Given the description of an element on the screen output the (x, y) to click on. 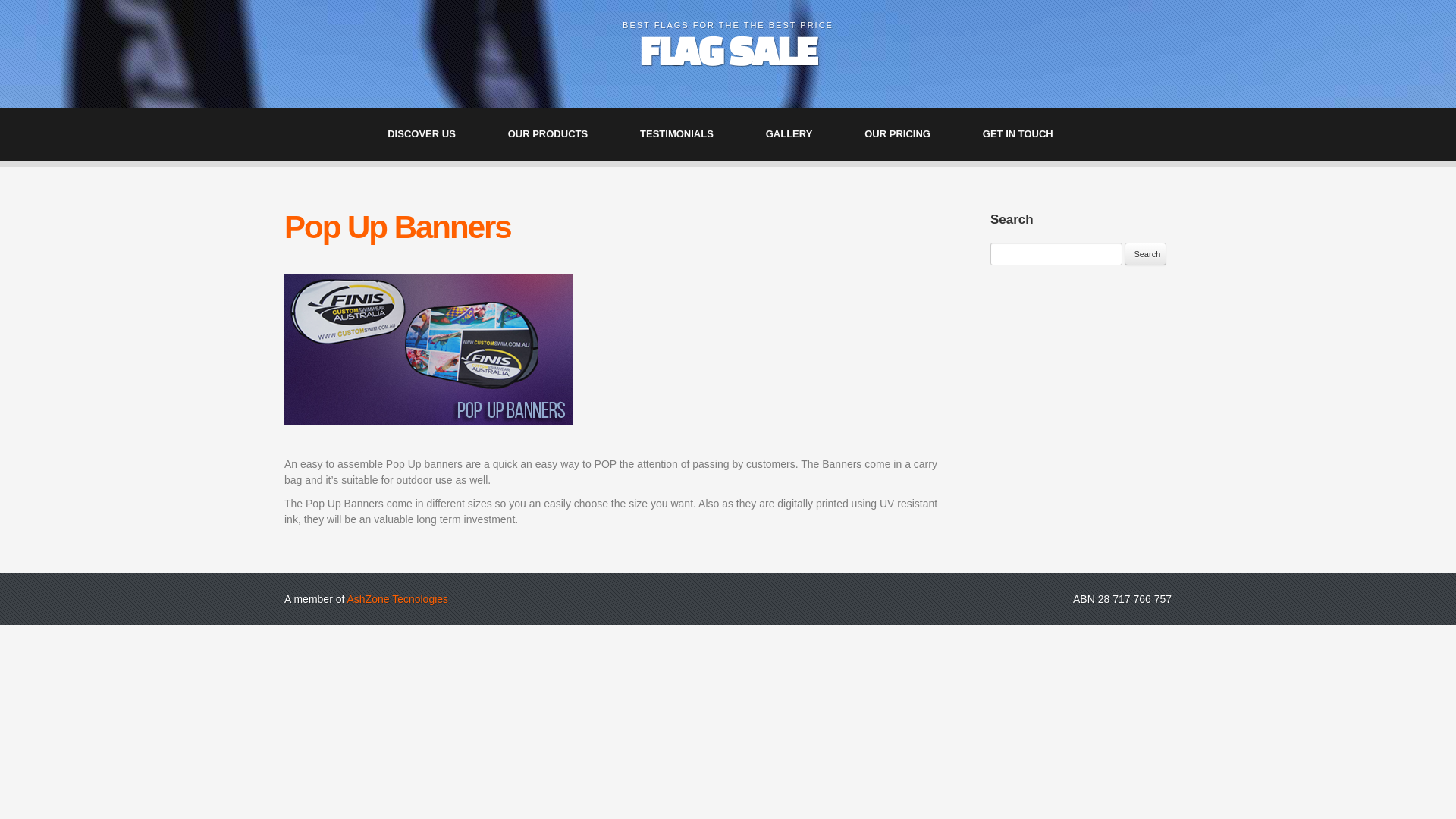
DISCOVER US Element type: text (428, 133)
AshZone Tecnologies Element type: text (397, 599)
GALLERY Element type: text (796, 133)
OUR PRICING Element type: text (904, 133)
TESTIMONIALS Element type: text (684, 133)
GET IN TOUCH Element type: text (1025, 133)
OUR PRODUCTS Element type: text (555, 133)
Search Element type: text (1145, 253)
FLAG SALE Element type: text (727, 49)
